Given the description of an element on the screen output the (x, y) to click on. 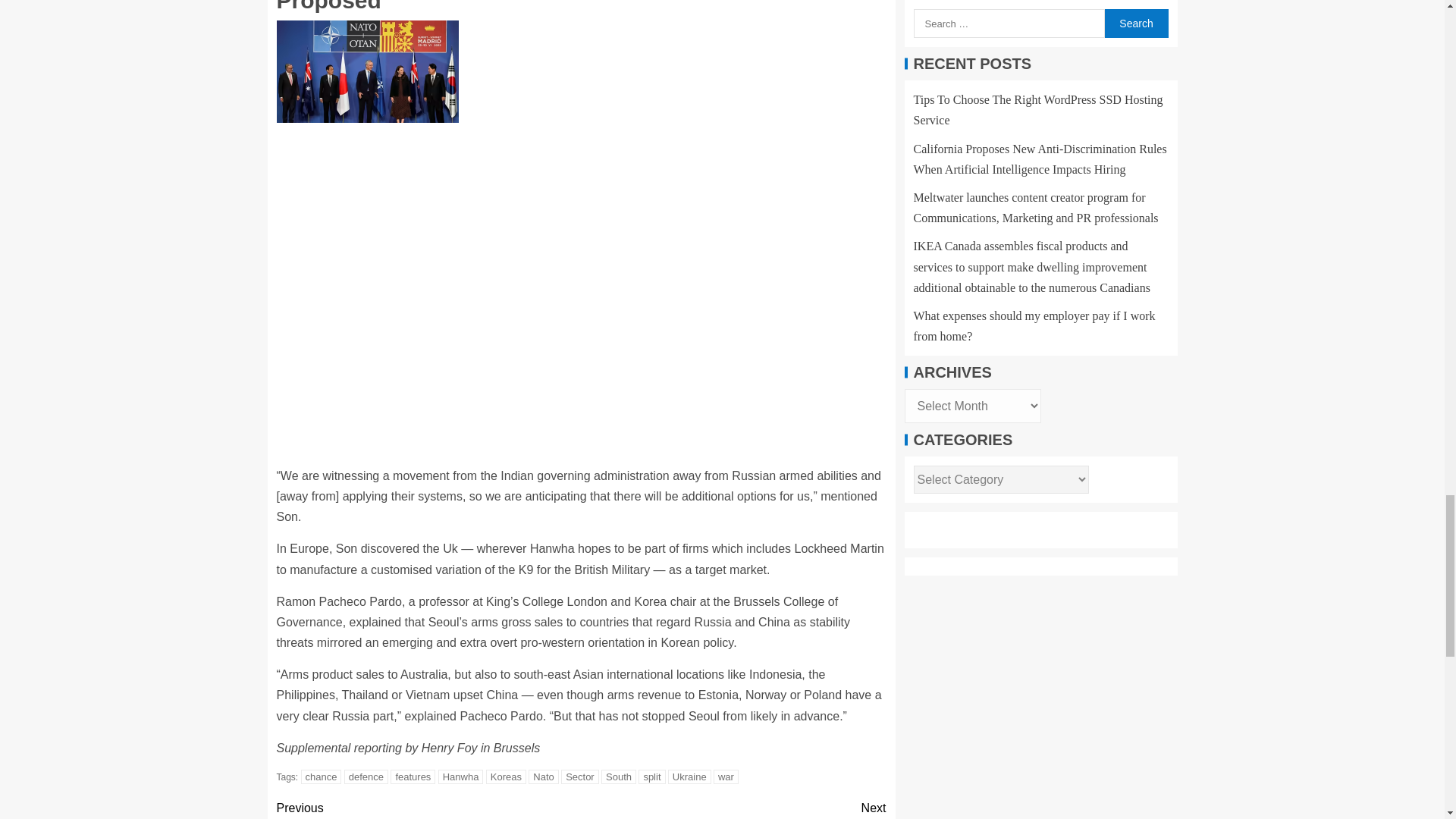
Sector (579, 776)
chance (321, 776)
defence (365, 776)
Hanwha (460, 776)
Ukraine (689, 776)
Koreas (505, 776)
features (412, 776)
Nato (542, 776)
South (618, 776)
war (725, 776)
split (652, 776)
